Given the description of an element on the screen output the (x, y) to click on. 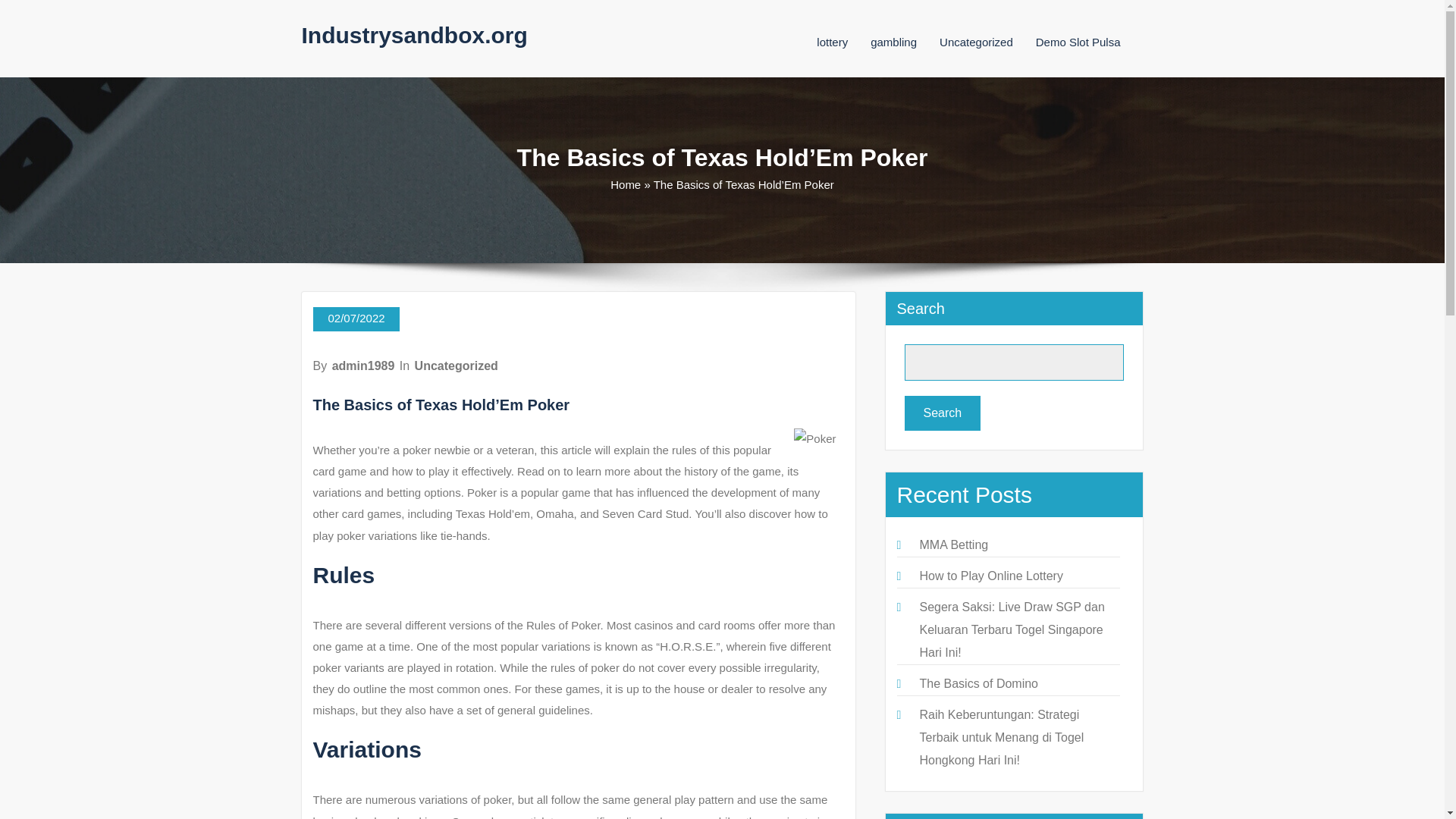
admin1989 (363, 365)
Demo Slot Pulsa (1078, 41)
Uncategorized (456, 365)
Industrysandbox.org (414, 34)
Search (941, 412)
lottery (831, 41)
Home (625, 184)
gambling (893, 41)
MMA Betting (953, 544)
How to Play Online Lottery (990, 575)
The Basics of Domino (978, 683)
Uncategorized (976, 41)
